Given the description of an element on the screen output the (x, y) to click on. 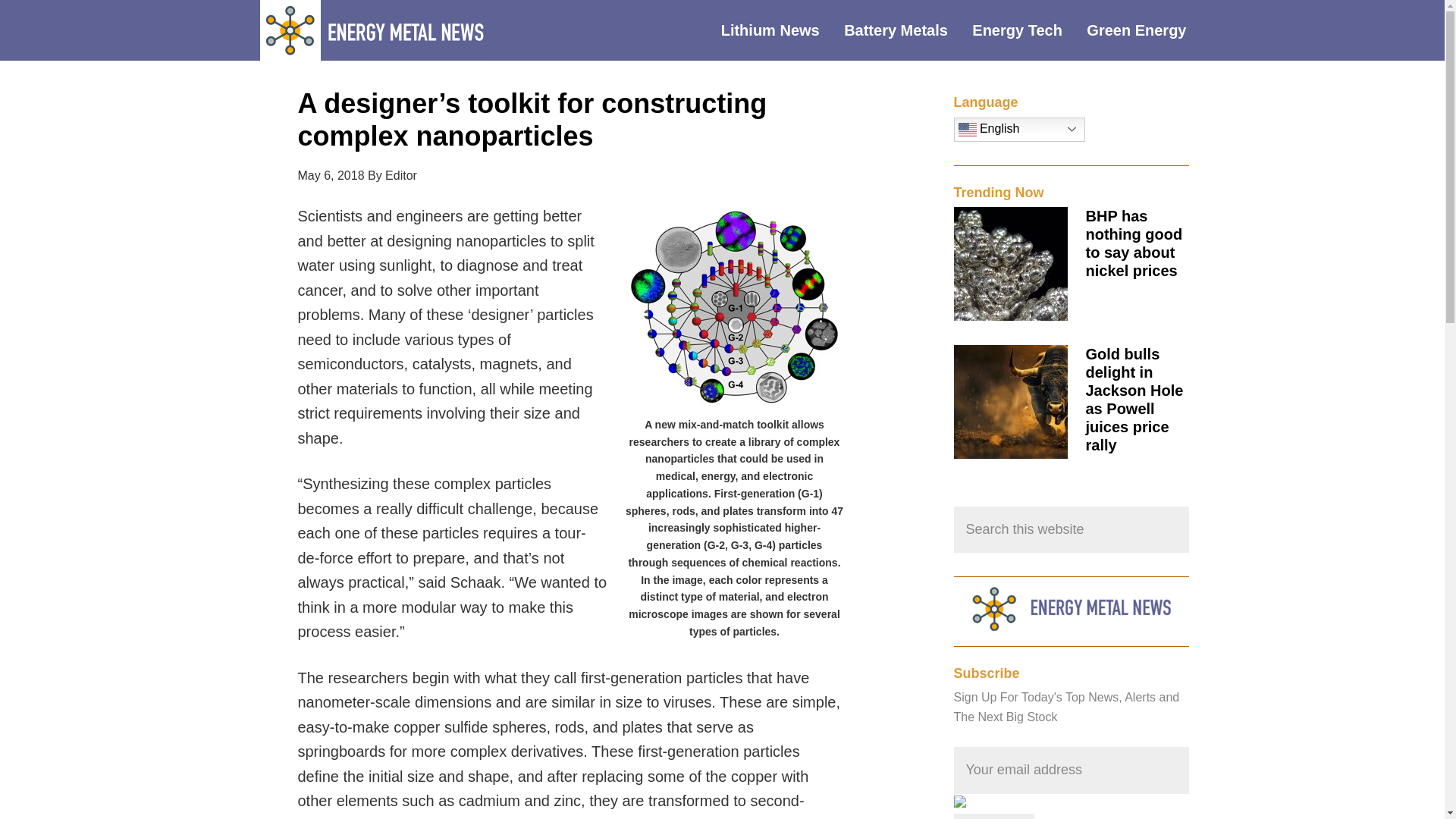
Energy Tech (1027, 30)
Green Energy (1146, 30)
Battery Metals (906, 30)
Sign up (994, 816)
Lithium News (780, 30)
English (1018, 129)
Sign up (994, 816)
